Given the description of an element on the screen output the (x, y) to click on. 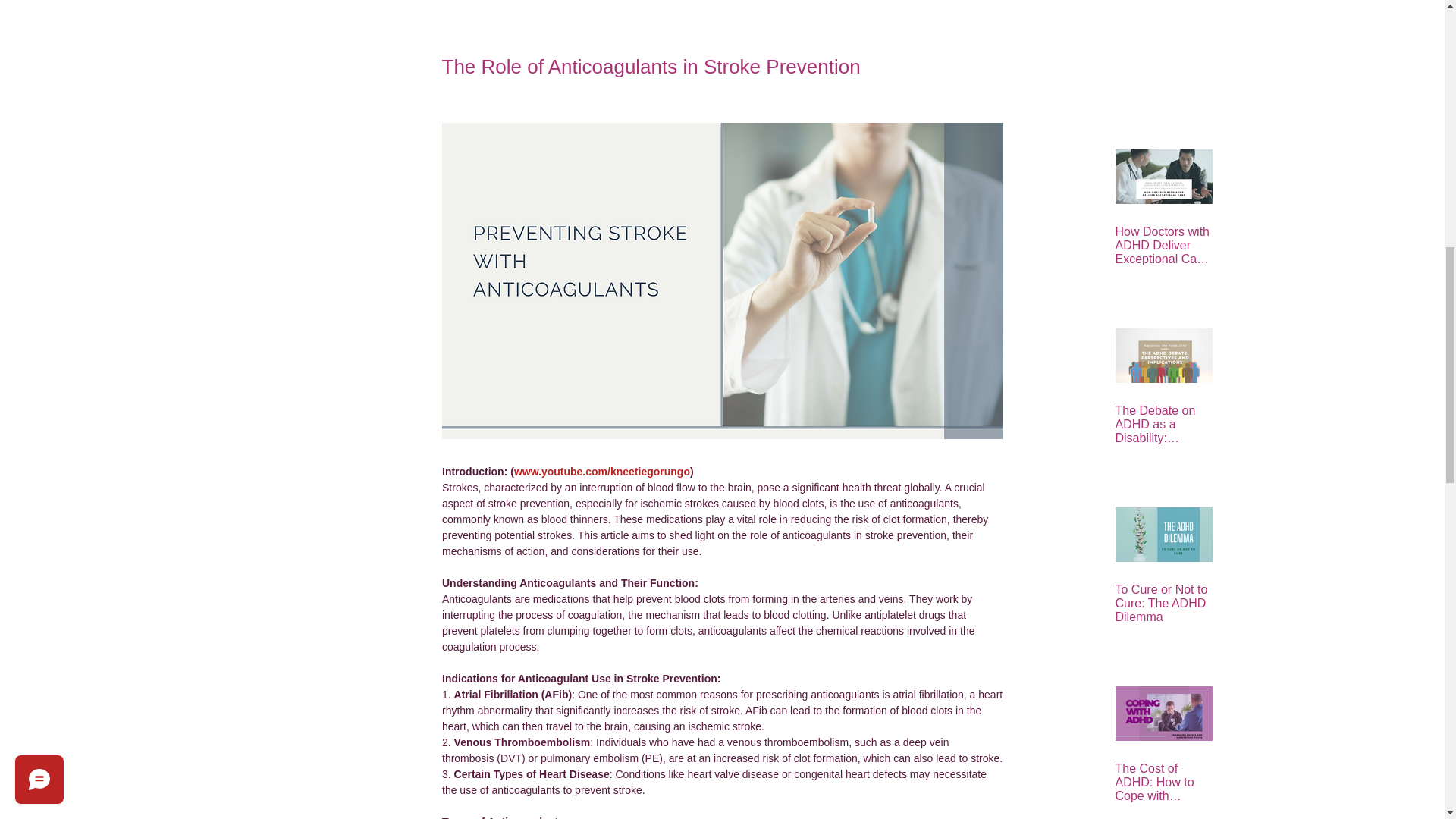
To Cure or Not to Cure: The ADHD Dilemma (1163, 603)
